Given the description of an element on the screen output the (x, y) to click on. 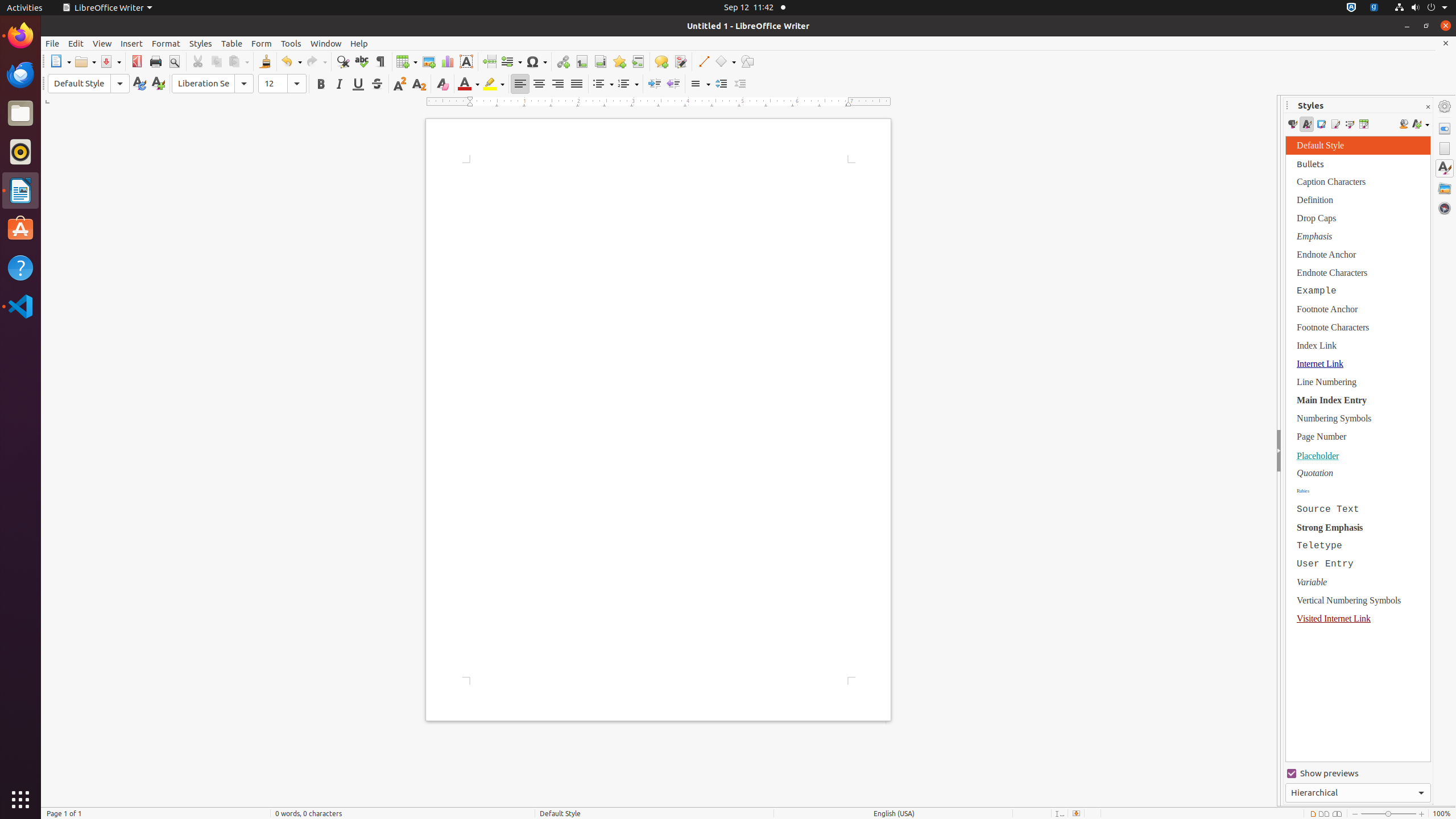
Italic Element type: toggle-button (338, 83)
Comment Element type: push-button (660, 61)
Copy Element type: push-button (216, 61)
Form Element type: menu (261, 43)
